Given the description of an element on the screen output the (x, y) to click on. 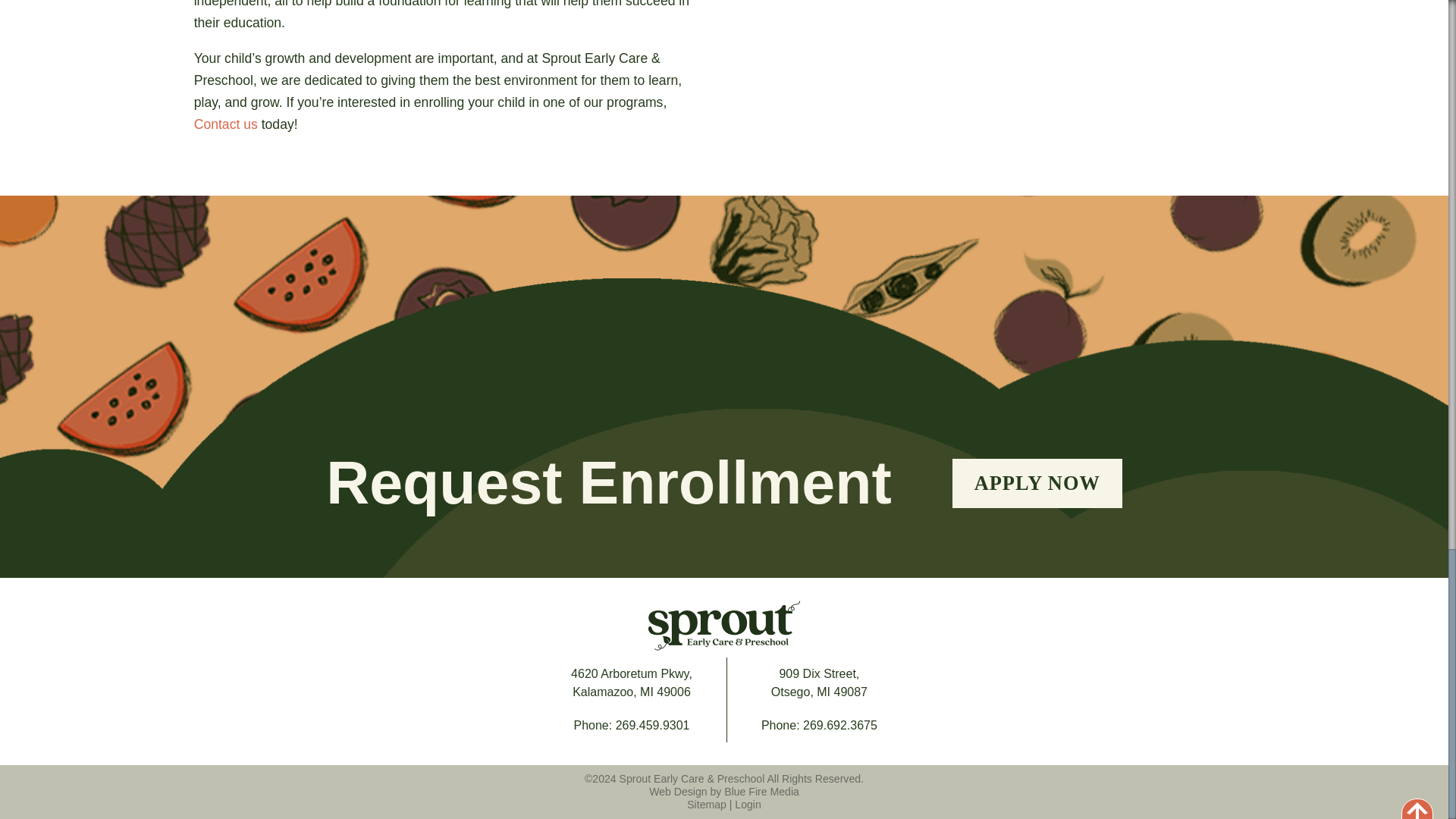
269.459.9301 (652, 725)
Contact us (225, 124)
Sitemap (706, 804)
Login (747, 804)
Click here to view the Sitemap page of this website. (706, 804)
Click here to login to this website. (747, 804)
269.692.3675 (631, 682)
